Given the description of an element on the screen output the (x, y) to click on. 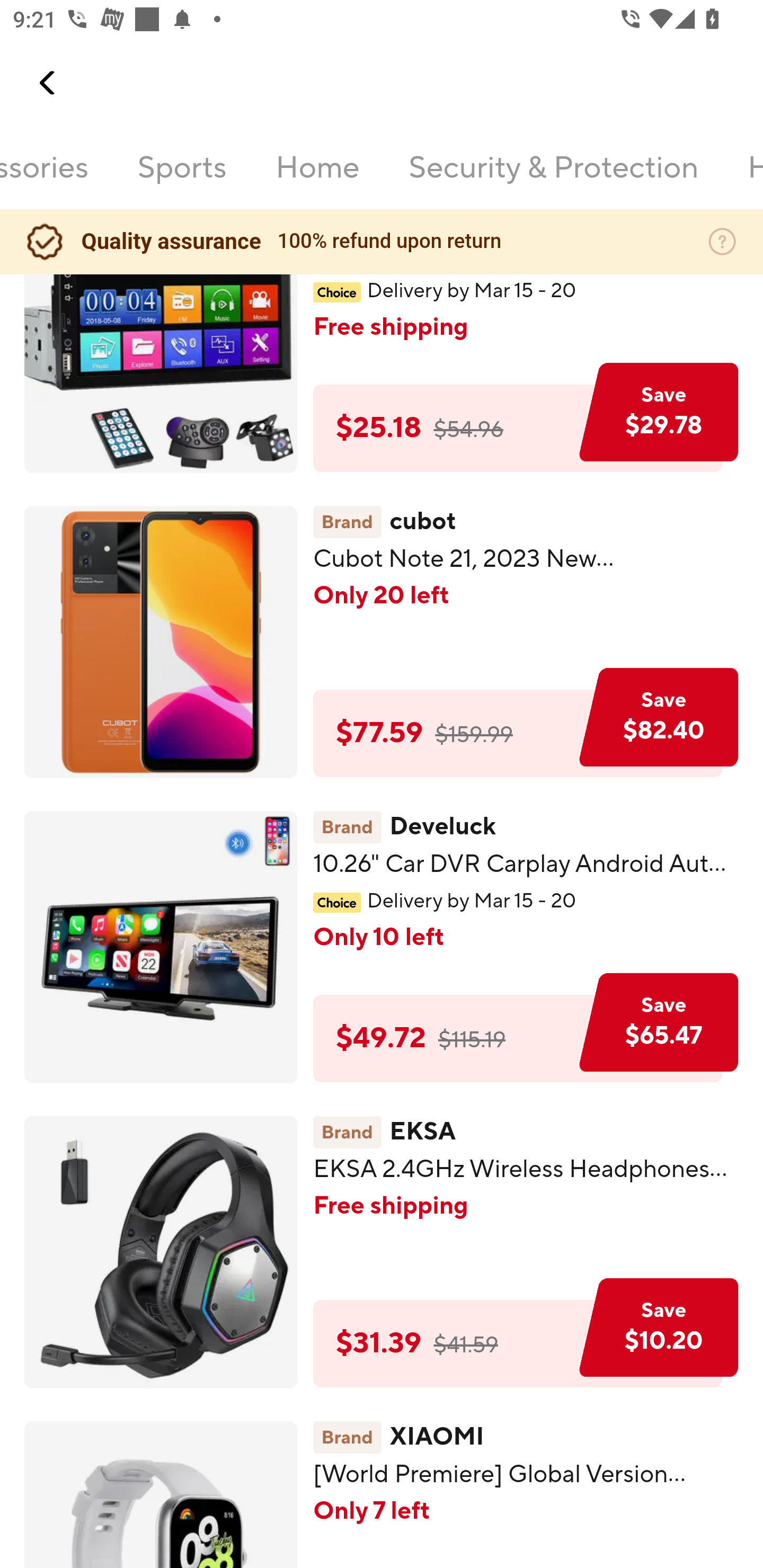
 (48, 82)
Phones & accessories (44, 178)
Sports (181, 178)
Home (317, 178)
Security & Protection (552, 178)
